Given the description of an element on the screen output the (x, y) to click on. 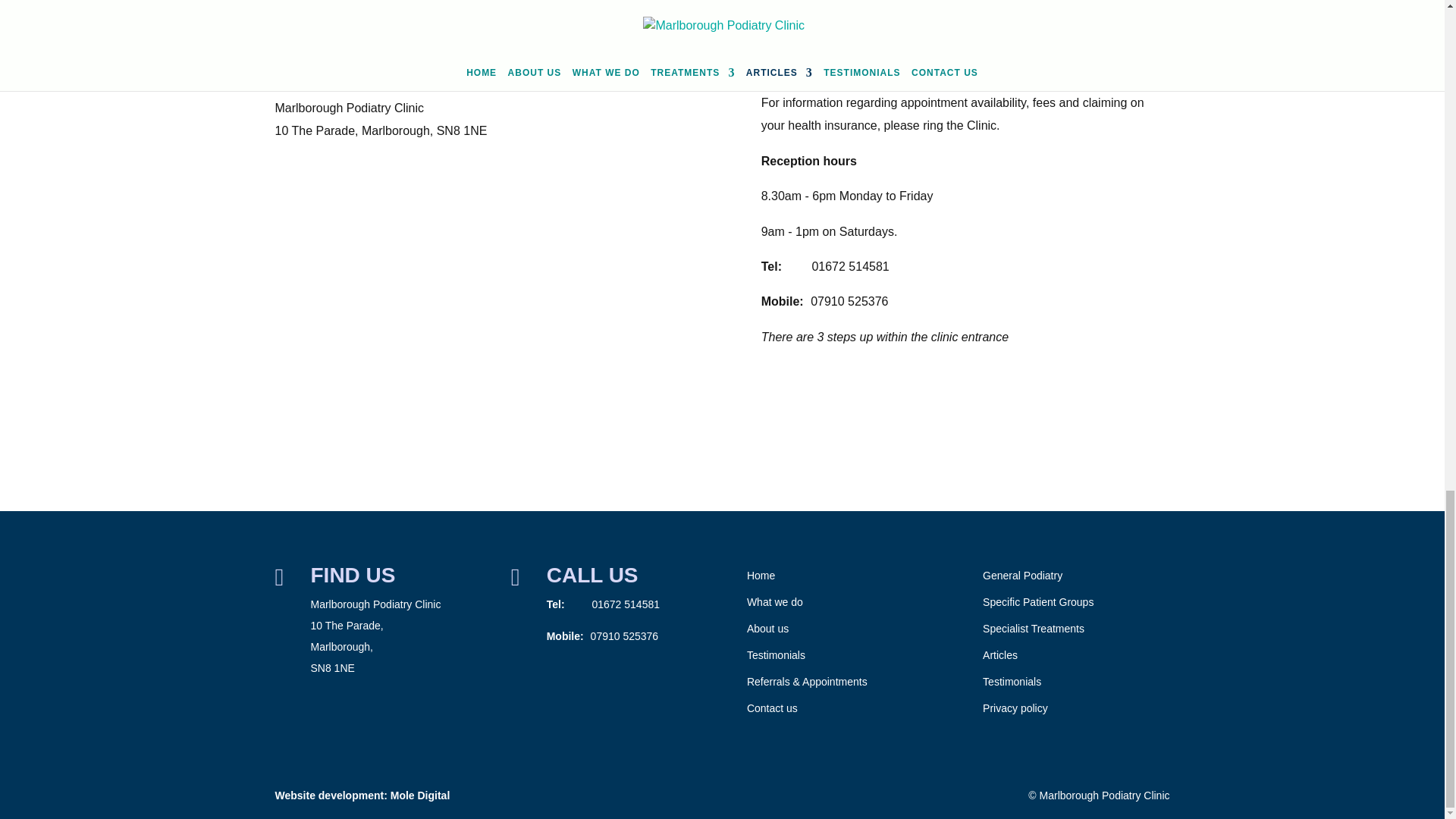
Specific Patient Groups (1037, 602)
Home (760, 575)
Testimonials (775, 654)
General Podiatry (1022, 575)
What we do (774, 602)
Specialist Treatments (1033, 628)
About us (767, 628)
Website development: Mole Digital (362, 795)
Privacy policy (1015, 707)
Contact us (771, 707)
